Given the description of an element on the screen output the (x, y) to click on. 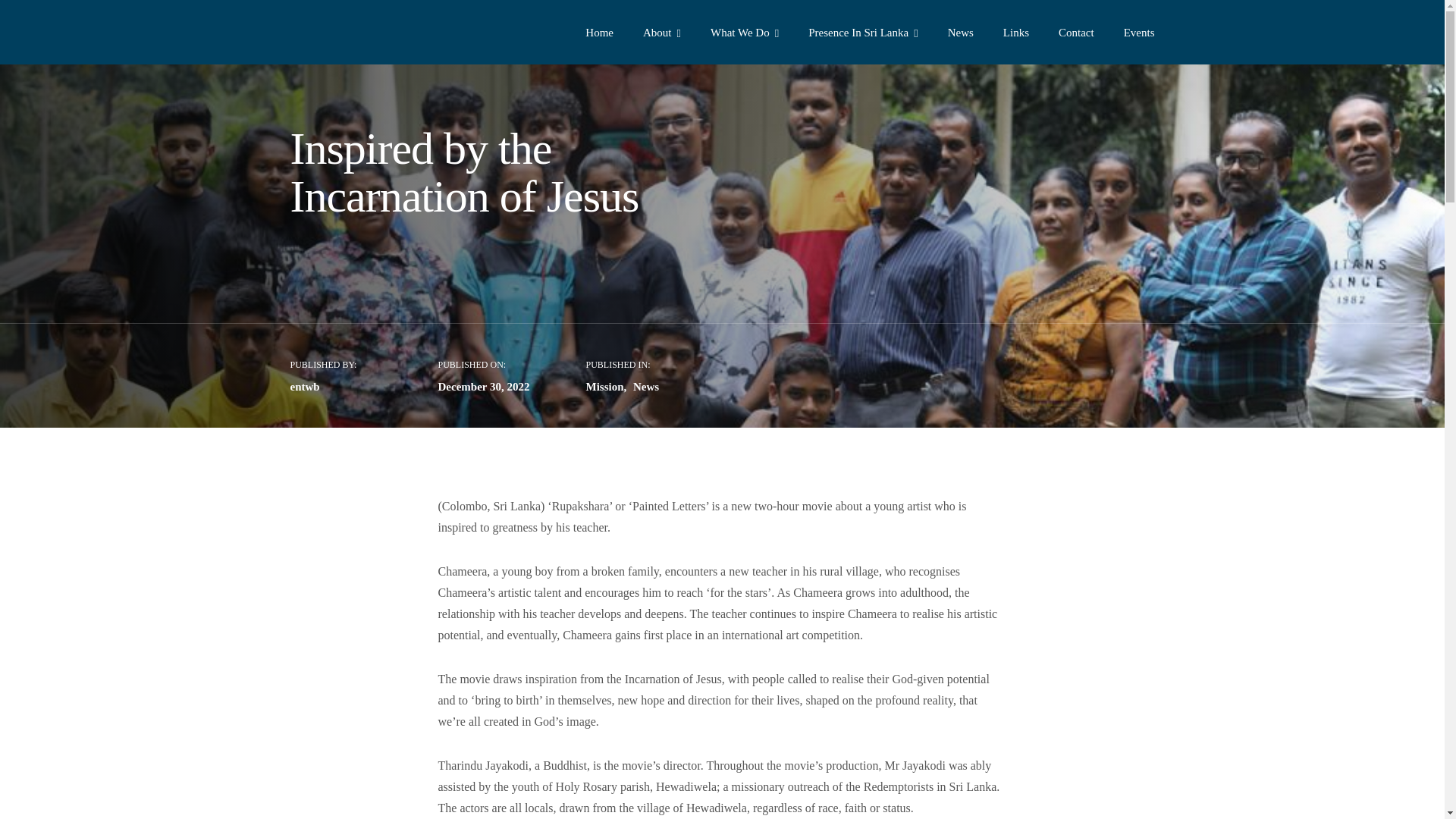
Contact (1076, 34)
Presence In Sri Lanka (863, 34)
Home (598, 34)
What We Do (744, 34)
Links (1016, 34)
Events (1139, 34)
News (960, 34)
About (662, 34)
